Given the description of an element on the screen output the (x, y) to click on. 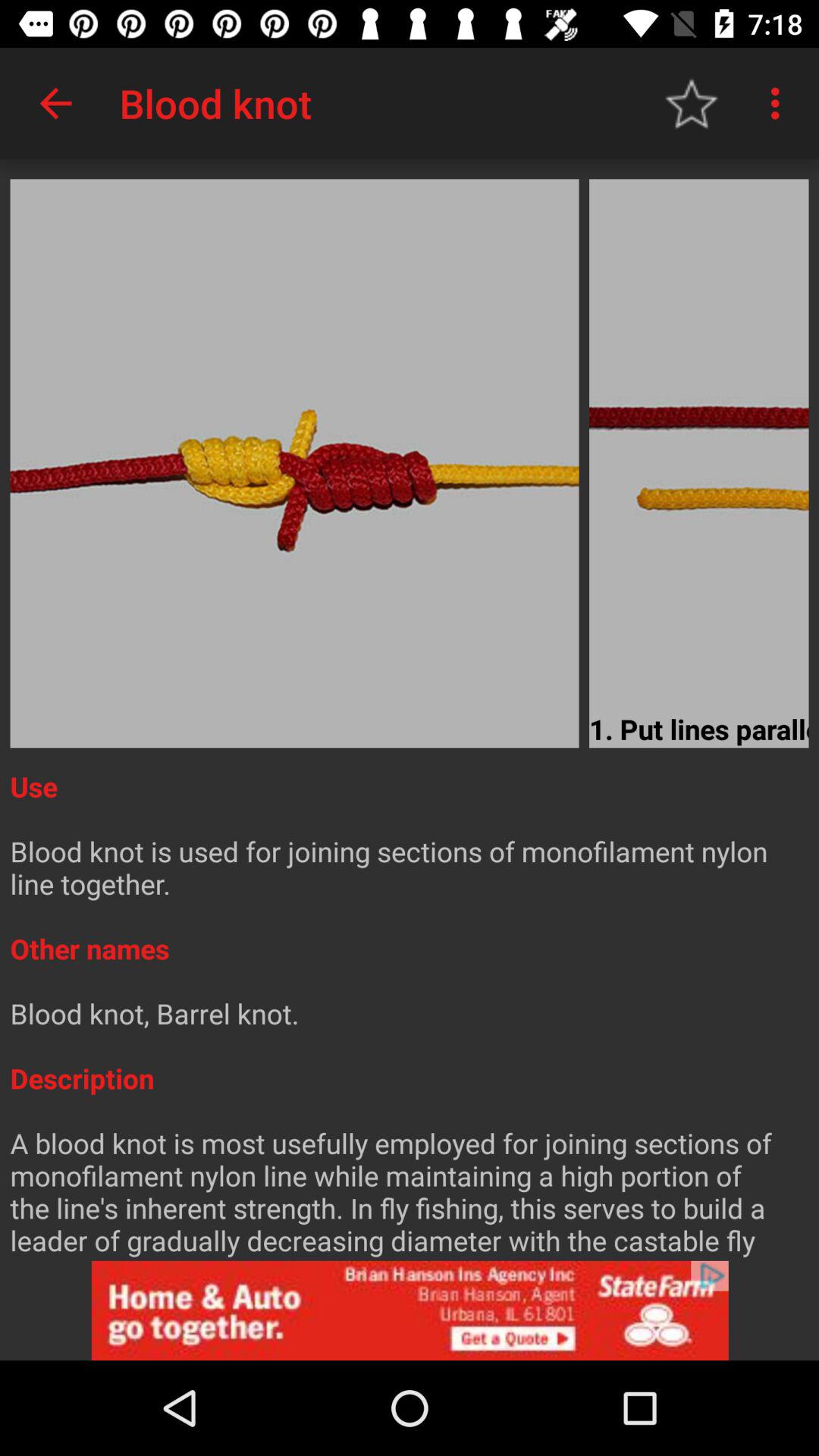
advertisement banner (409, 1310)
